Given the description of an element on the screen output the (x, y) to click on. 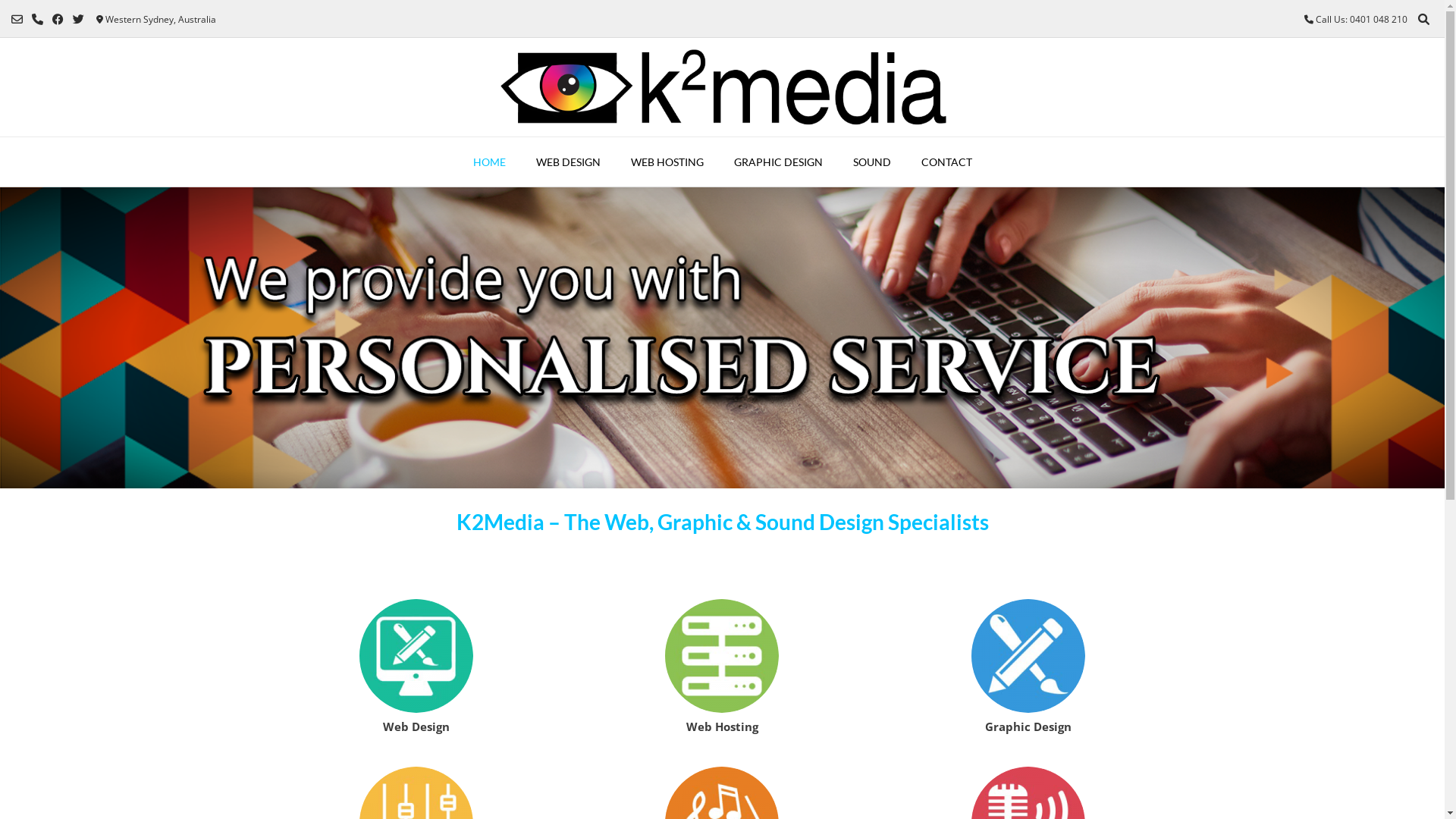
SOUND Element type: text (871, 162)
CONTACT Element type: text (945, 162)
Follow Us on Twitter Element type: hover (78, 19)
HOME Element type: text (489, 162)
Find Us on Facebook Element type: hover (57, 19)
WEB HOSTING Element type: text (666, 162)
K2Media Element type: hover (721, 86)
GRAPHIC DESIGN Element type: text (777, 162)
Send Us an Email Element type: hover (16, 19)
WEB DESIGN Element type: text (567, 162)
Call Us Element type: hover (37, 19)
